Given the description of an element on the screen output the (x, y) to click on. 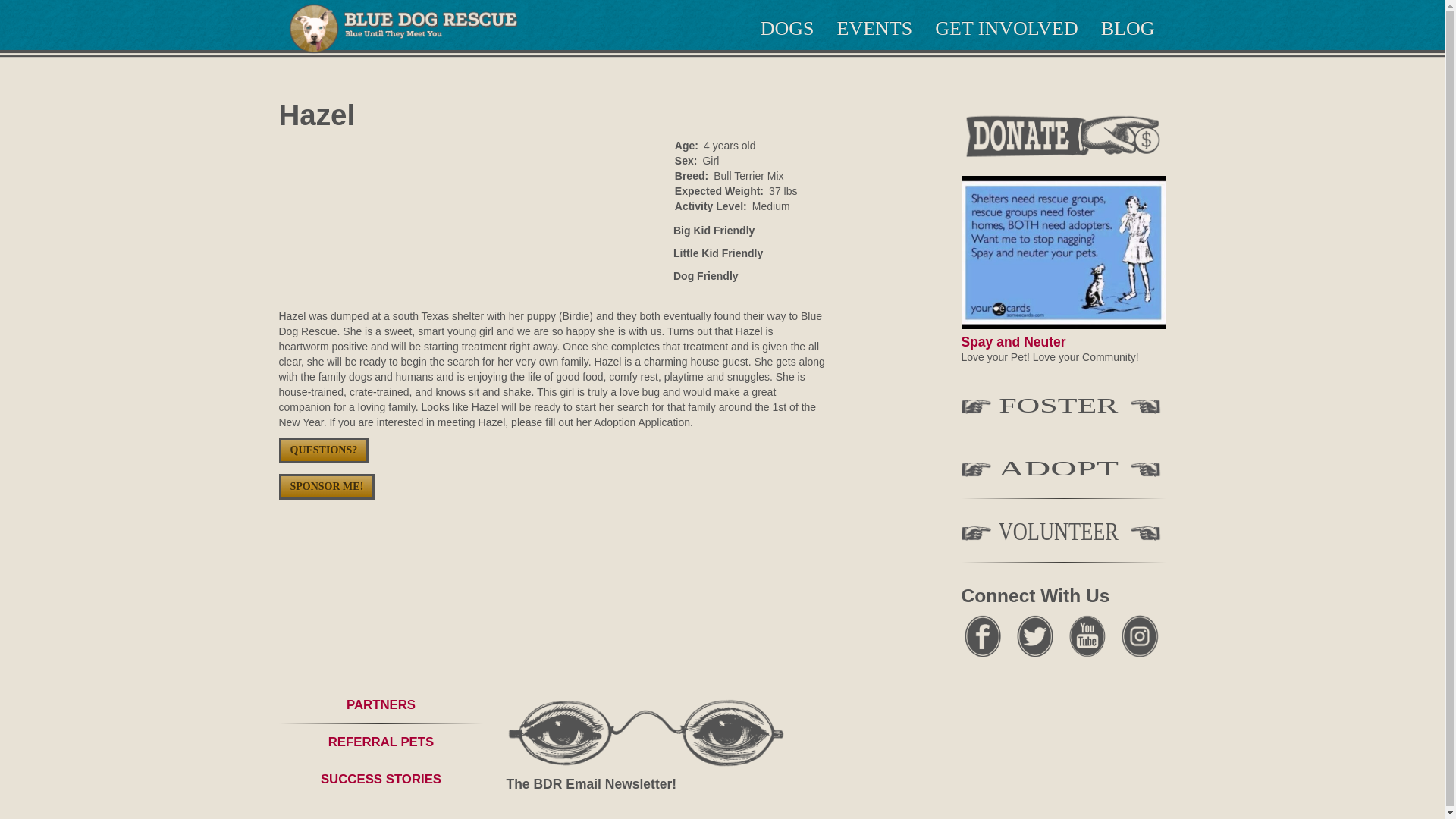
REFERRAL PETS (381, 741)
SPONSOR ME! (327, 485)
ADOPT (1063, 471)
GET INVOLVED (1006, 28)
EVENTS (874, 28)
PARTNERS (380, 704)
SUCCESS STORIES (380, 779)
DOGS (787, 28)
Spay and Neuter (1012, 341)
FOSTER (1063, 407)
